Given the description of an element on the screen output the (x, y) to click on. 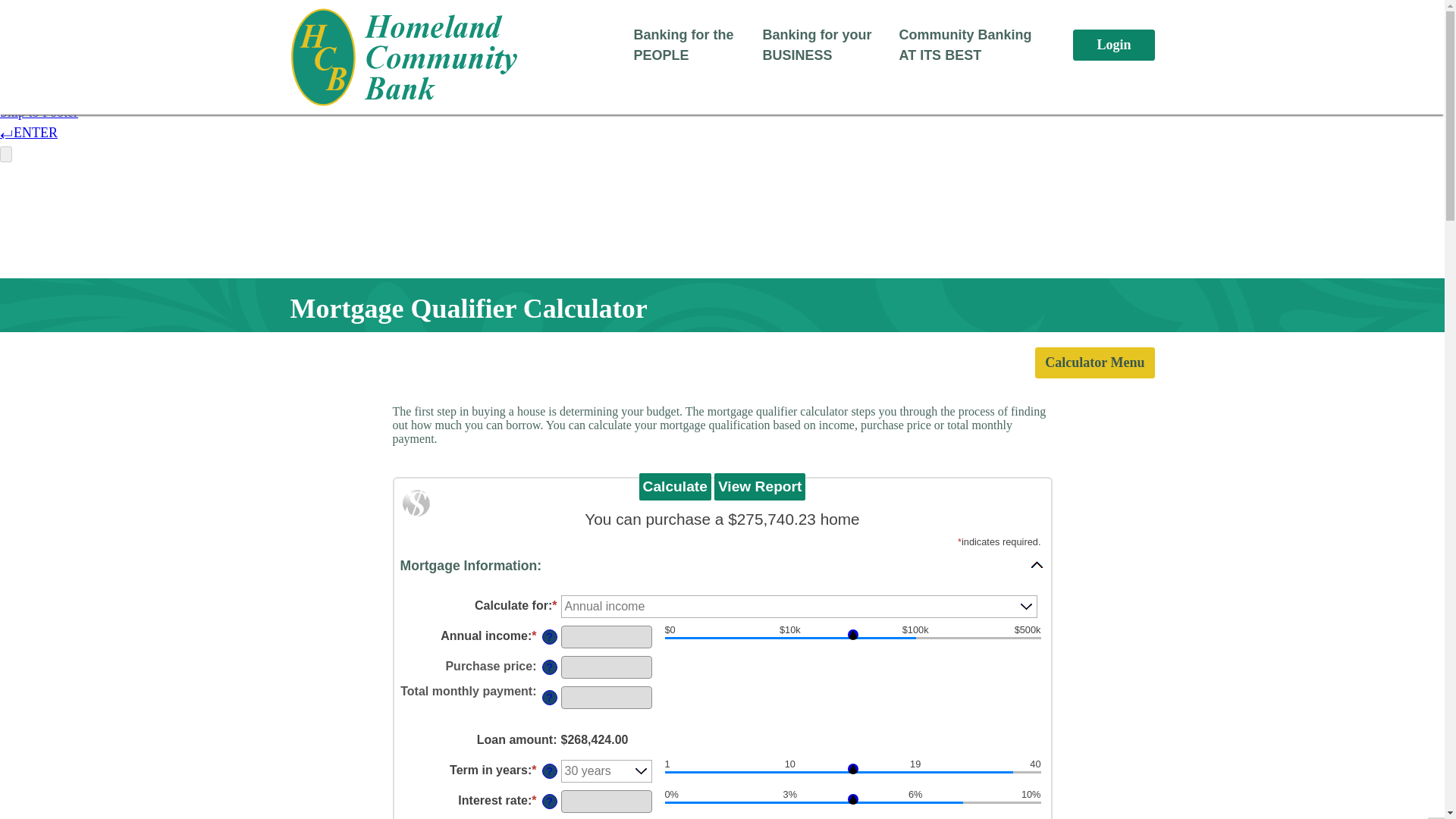
Login (1113, 44)
Homeland Community Bank, McMinnville, TN (402, 57)
View Report (760, 486)
Interest rate slider (852, 805)
50 (852, 640)
Calculate (675, 486)
Annual income slider (852, 640)
Back to Calculator Menu (1094, 362)
Calculator Menu (1094, 362)
50 (852, 775)
50 (852, 805)
? (548, 636)
Term in years slider (852, 775)
